Given the description of an element on the screen output the (x, y) to click on. 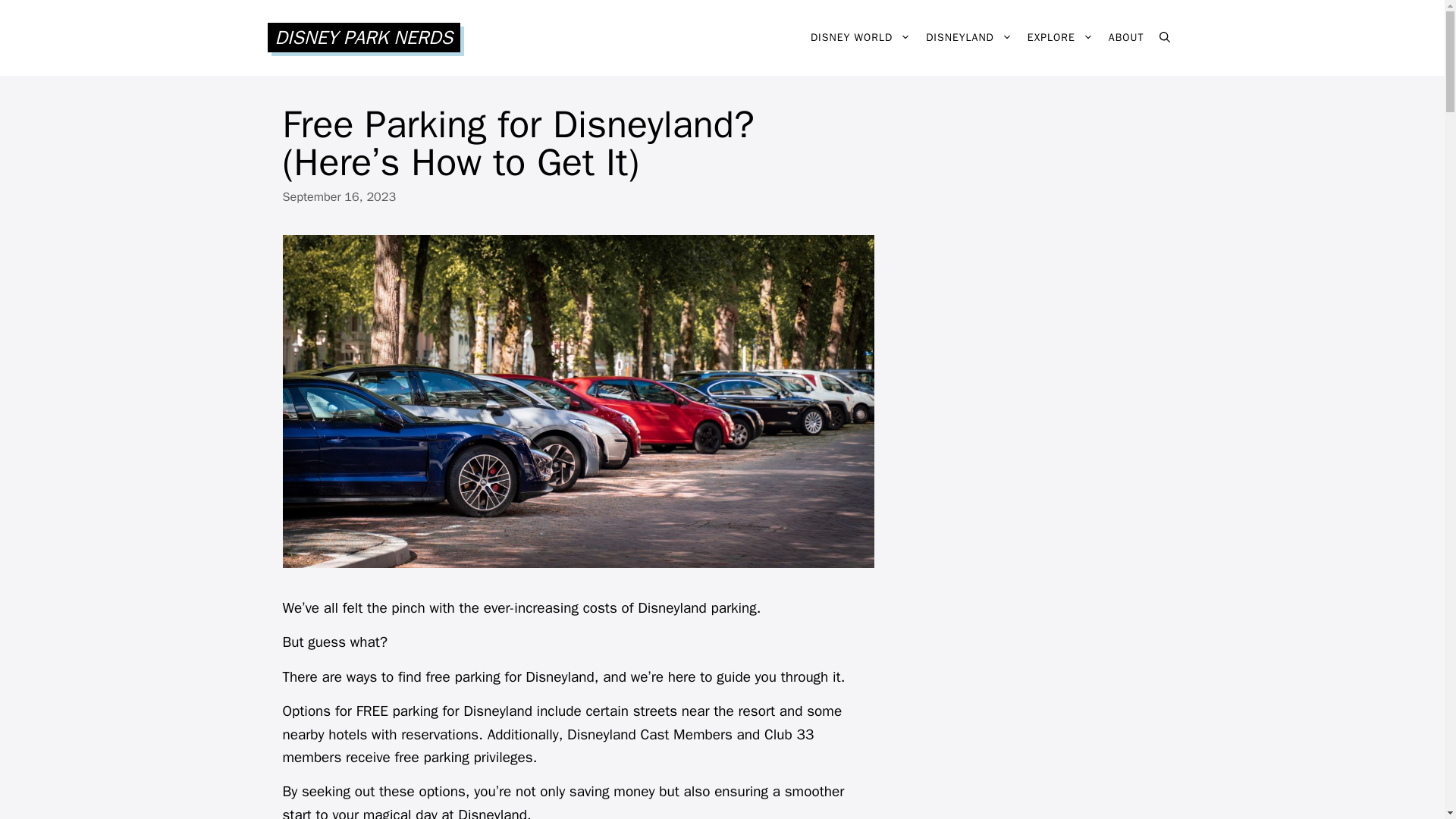
DISNEYLAND (969, 37)
EXPLORE (1060, 37)
DISNEY WORLD (860, 37)
ABOUT (1125, 37)
DISNEY PARK NERDS (363, 37)
